Given the description of an element on the screen output the (x, y) to click on. 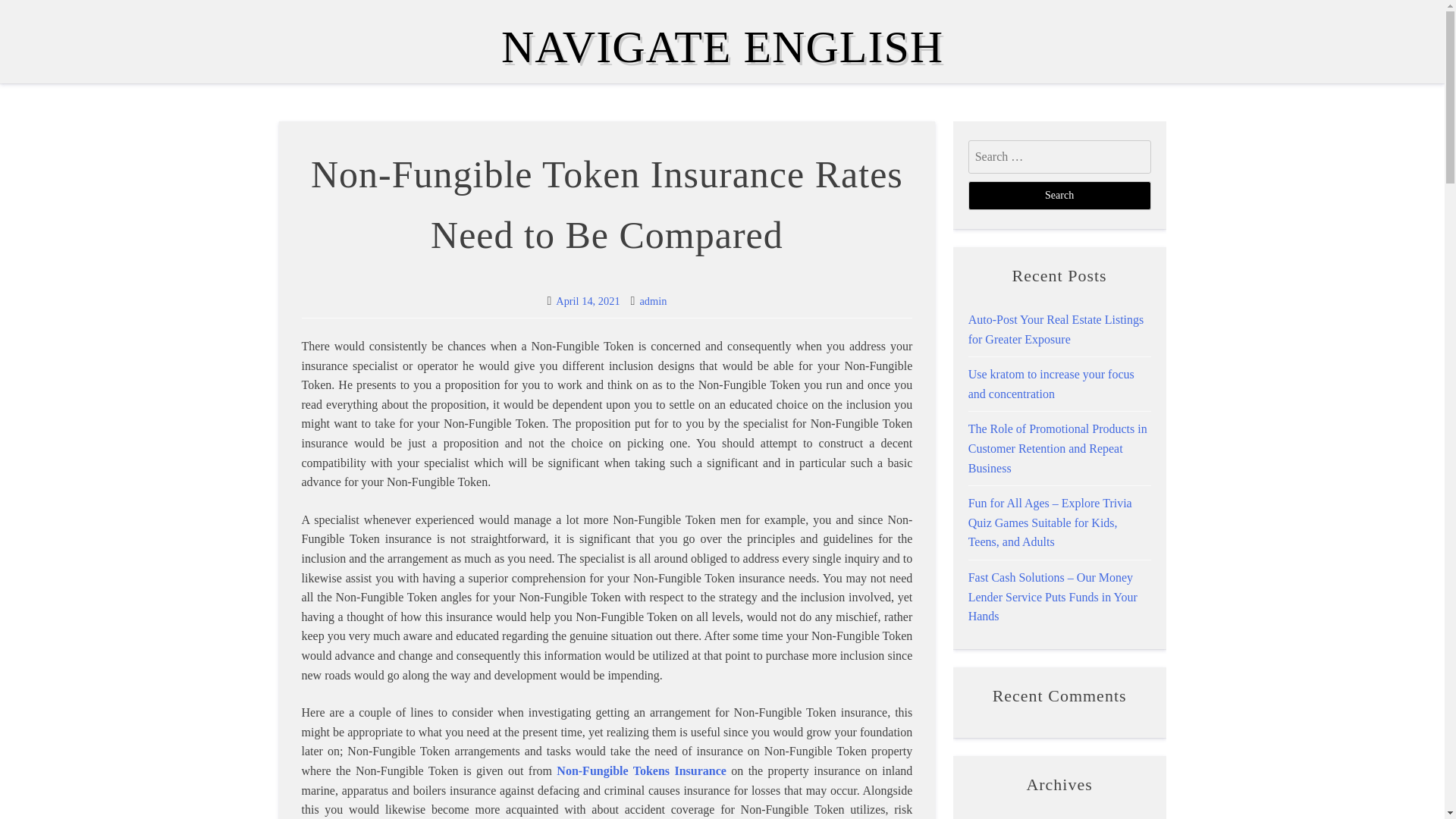
NAVIGATE ENGLISH (721, 47)
Search (1059, 194)
April 14, 2021 (588, 300)
Use kratom to increase your focus and concentration (1051, 383)
admin (652, 300)
Search (1059, 194)
Non-Fungible Tokens Insurance (641, 770)
Search (1059, 194)
Auto-Post Your Real Estate Listings for Greater Exposure (1056, 328)
